Given the description of an element on the screen output the (x, y) to click on. 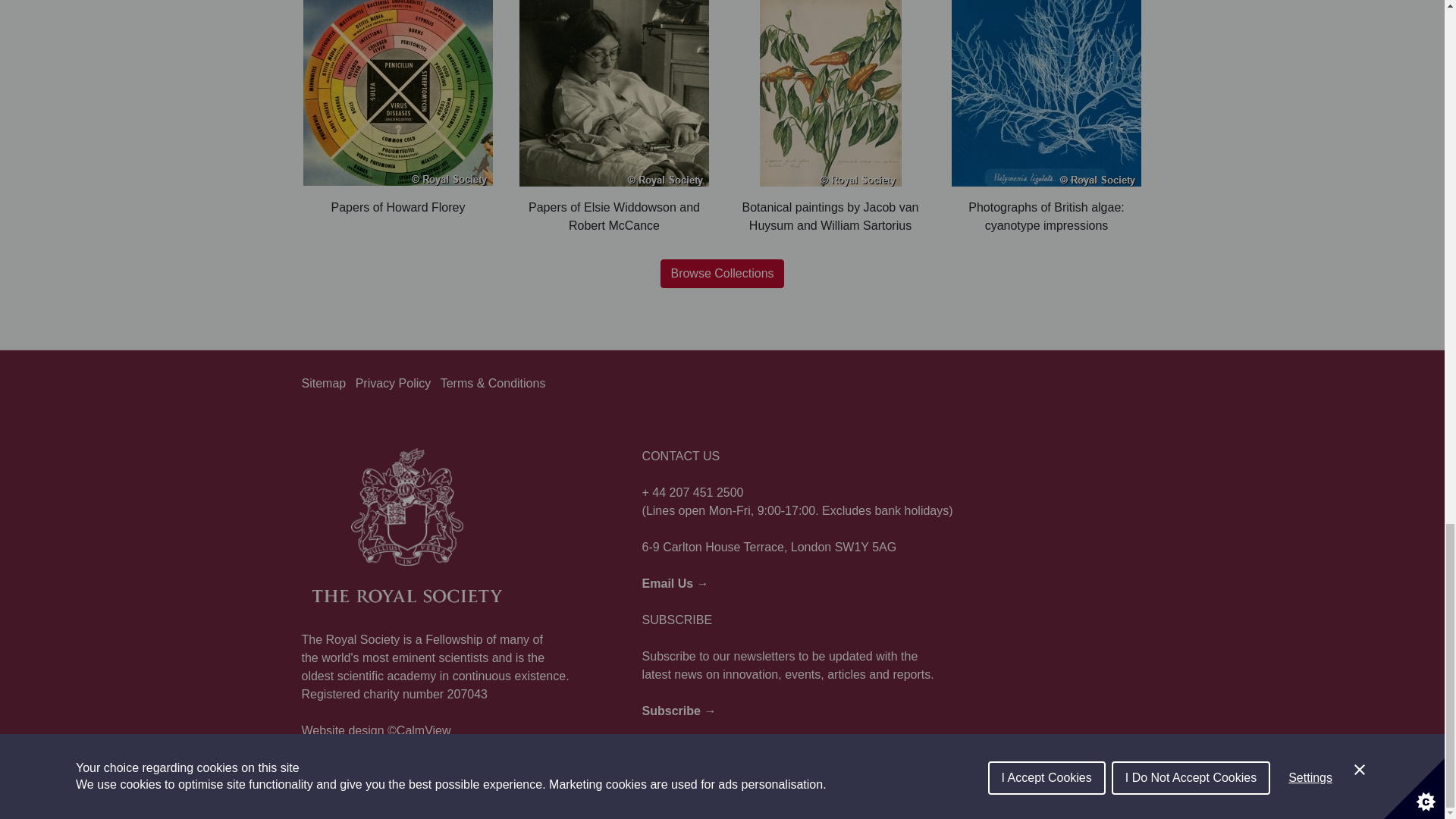
Privacy Policy (392, 382)
Sitemap (323, 382)
Browse Collections (722, 273)
Papers of Howard Florey (398, 108)
